Given the description of an element on the screen output the (x, y) to click on. 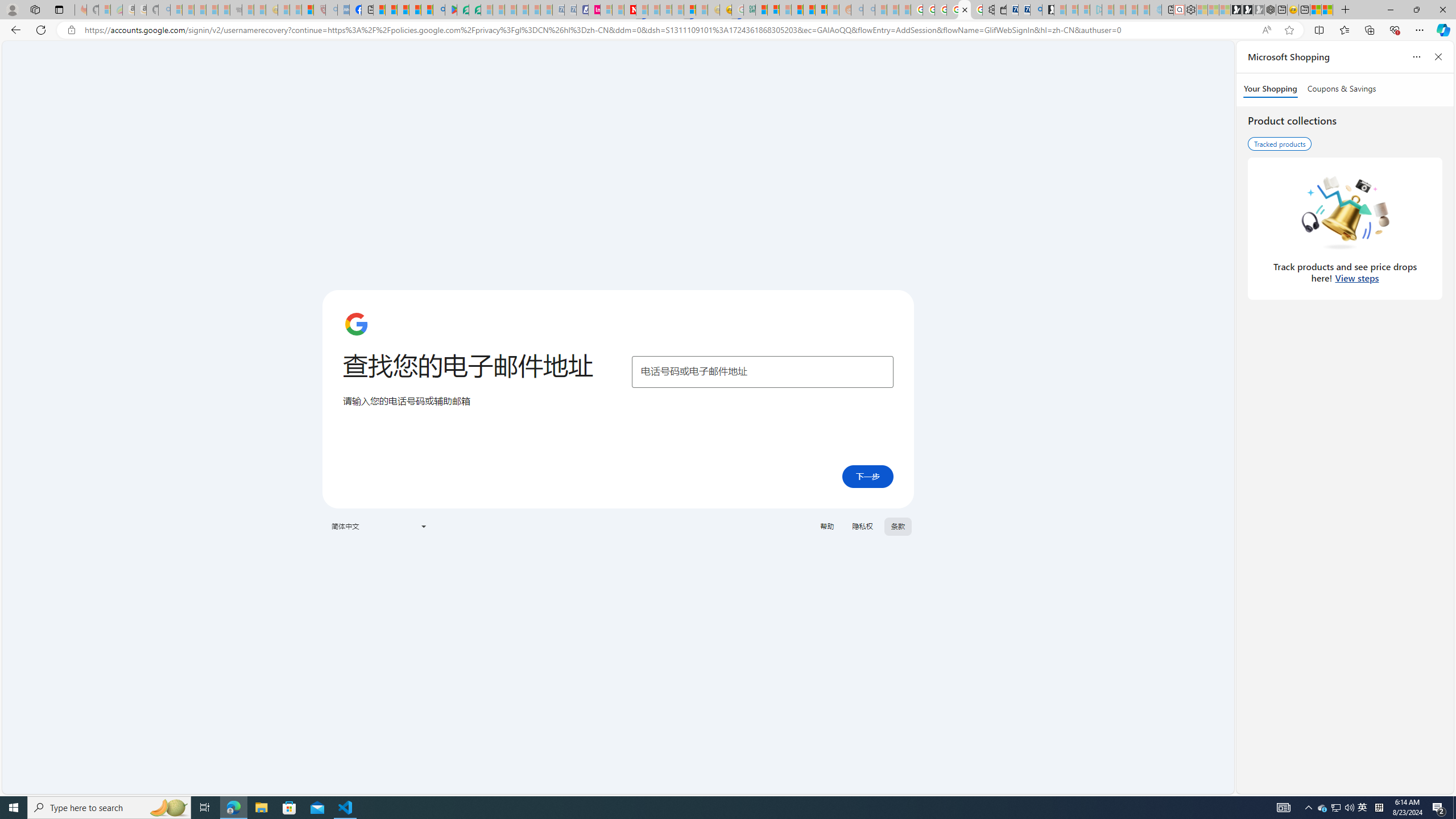
Class: VfPpkd-t08AT-Bz112c-Bd00G (423, 526)
Microsoft Word - consumer-privacy address update 2.2021 (475, 9)
Utah sues federal government - Search - Sleeping (868, 9)
Robert H. Shmerling, MD - Harvard Health - Sleeping (319, 9)
